Given the description of an element on the screen output the (x, y) to click on. 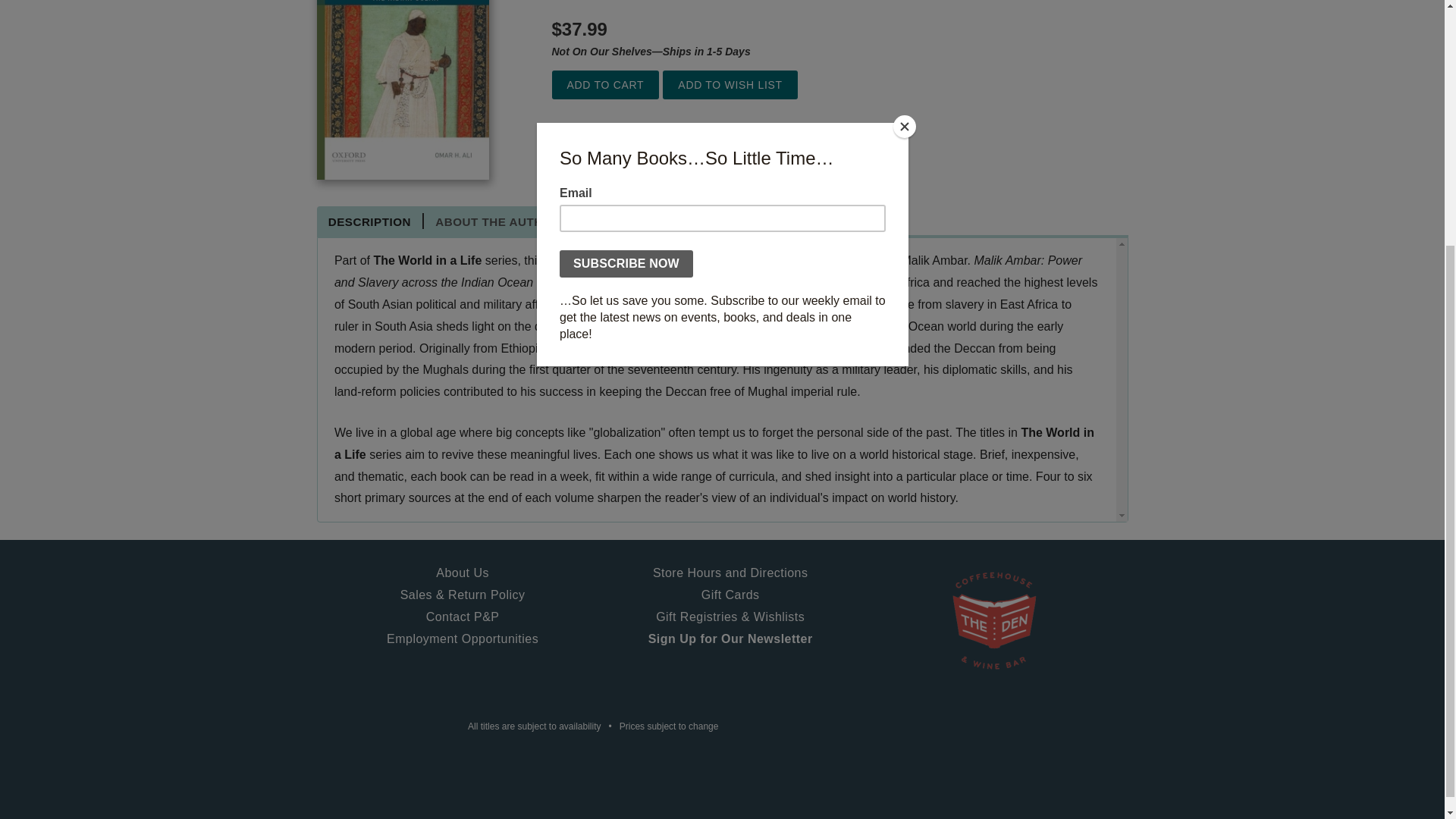
Add to Cart (605, 84)
Add to Wish List (729, 84)
